Given the description of an element on the screen output the (x, y) to click on. 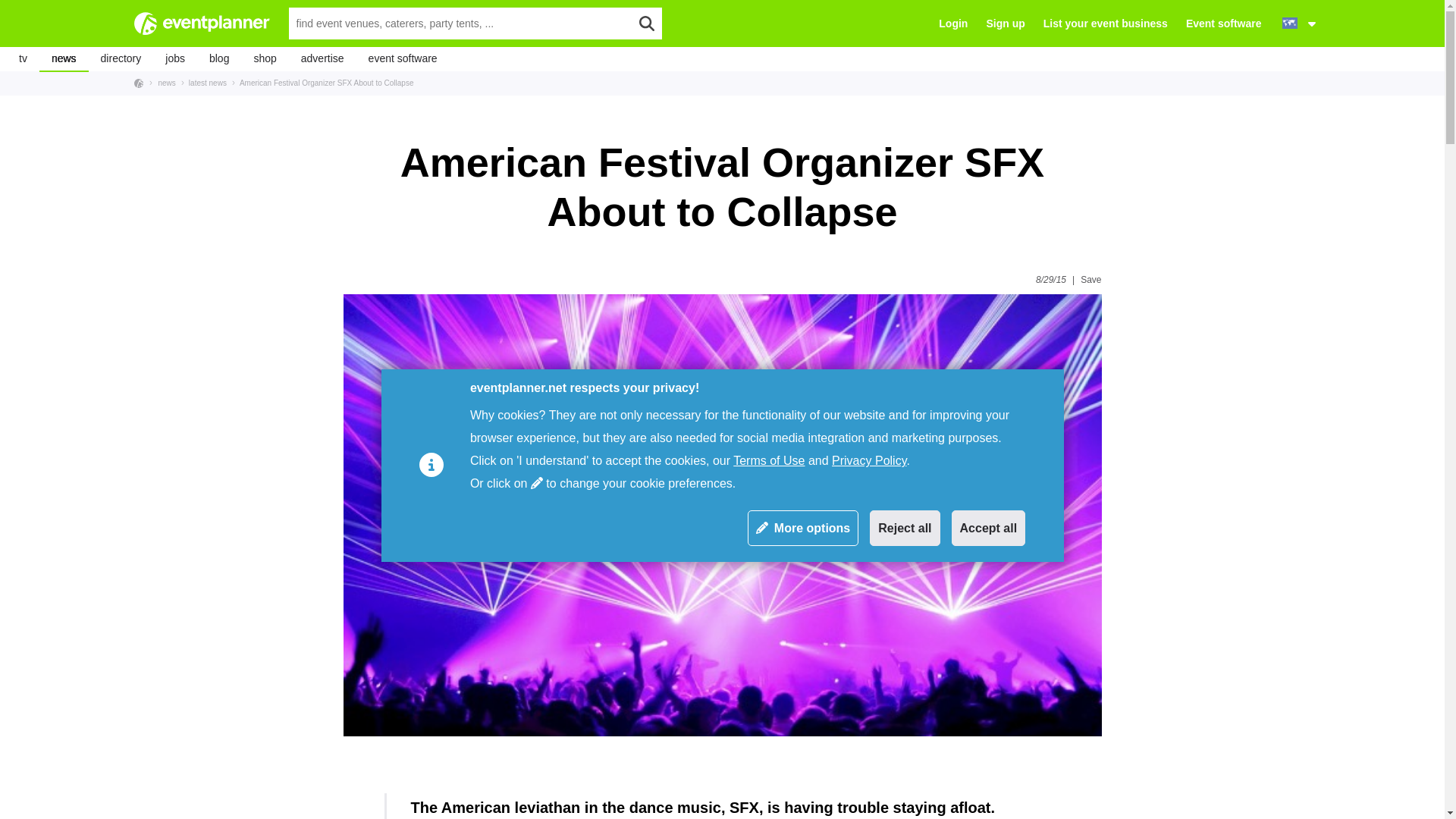
Sign up (1005, 23)
tv (23, 58)
shop (264, 58)
American Festival Organizer SFX About to Collapse (322, 82)
blog (218, 58)
Login (953, 23)
jobs (174, 58)
news (63, 58)
directory (121, 58)
advertise (322, 58)
Event software (1224, 23)
List your event business (1105, 23)
